Given the description of an element on the screen output the (x, y) to click on. 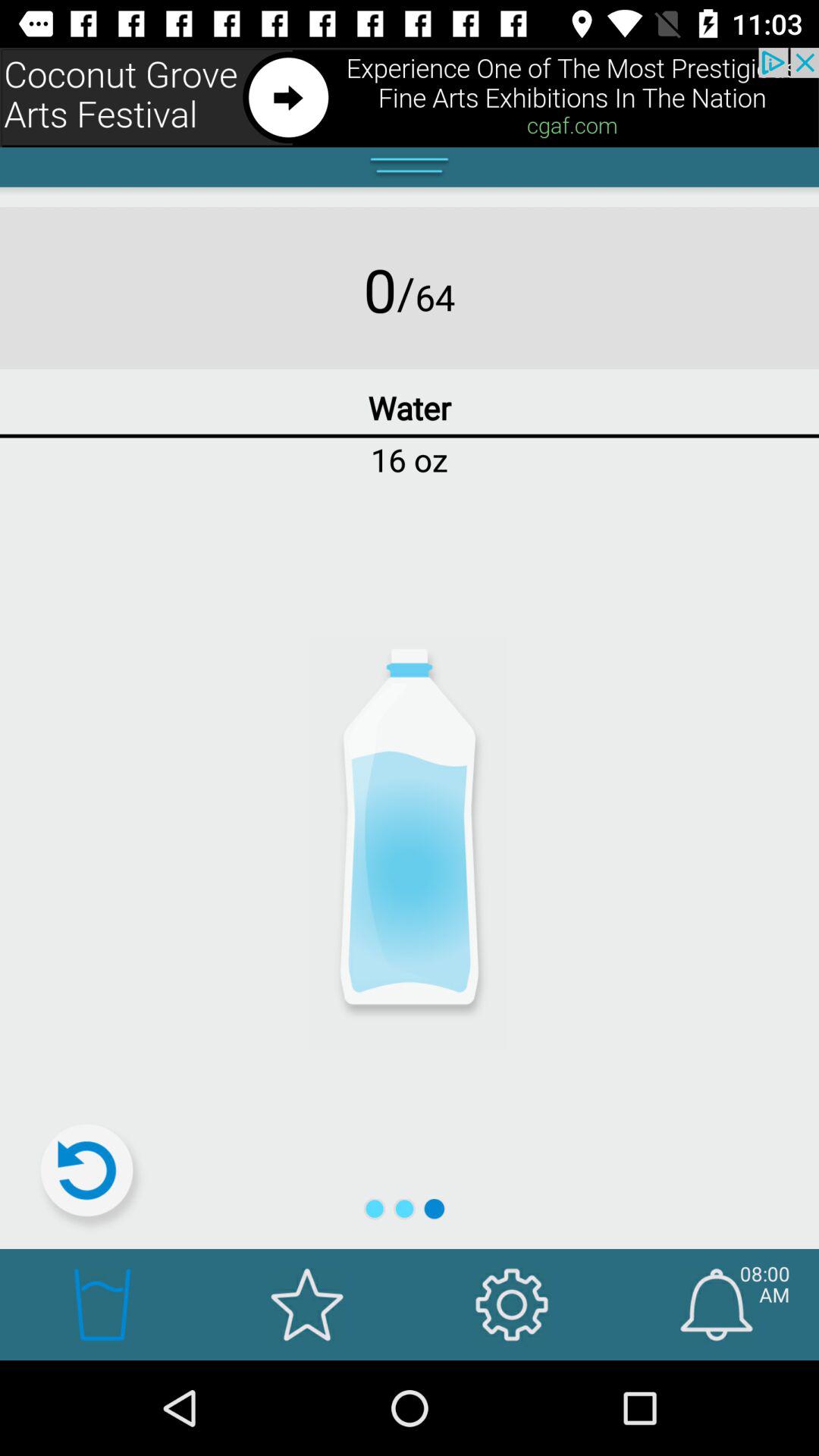
click settings button (511, 1304)
